Given the description of an element on the screen output the (x, y) to click on. 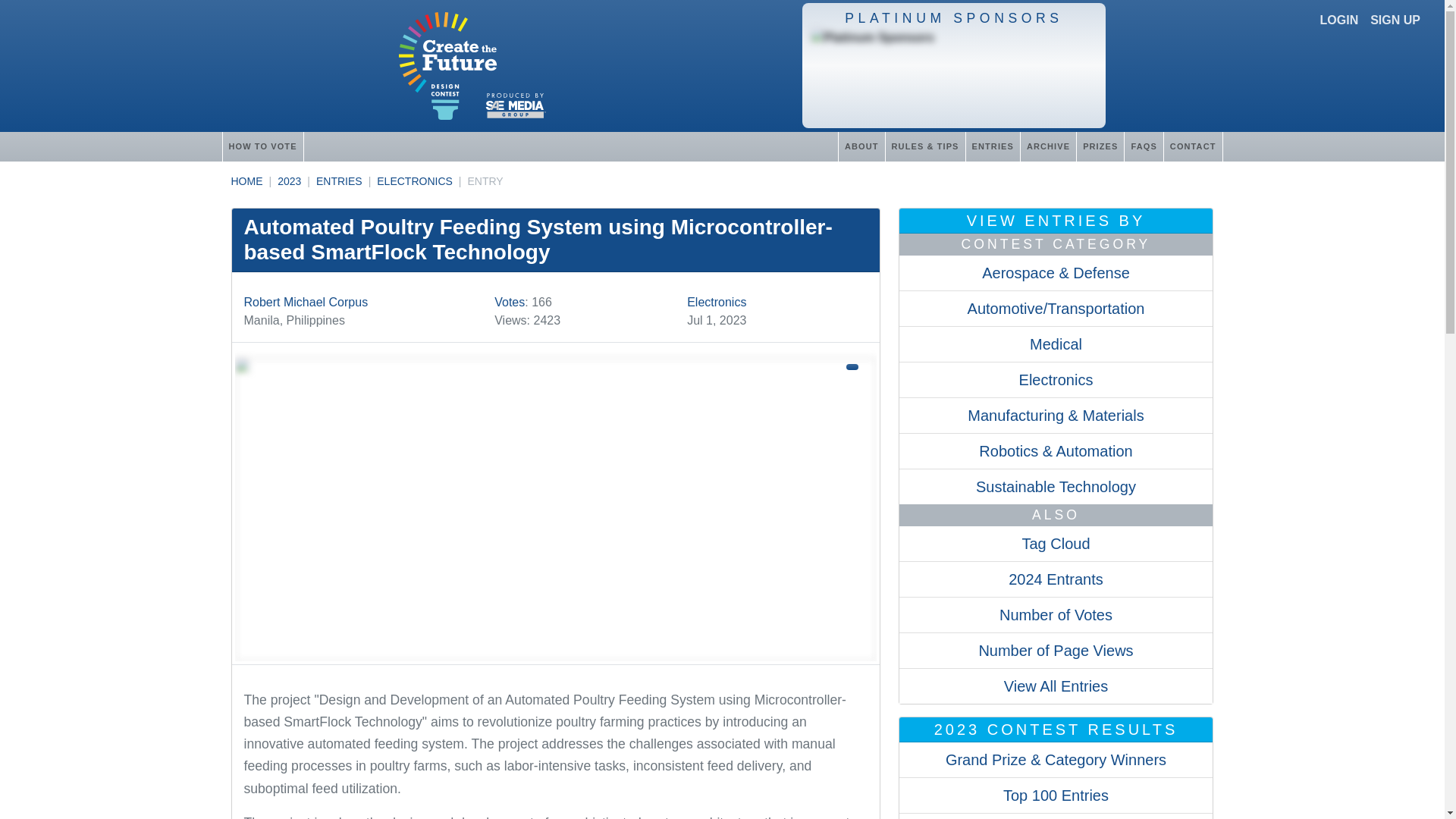
ENTRIES (992, 146)
Robert Michael Corpus (306, 301)
ABOUT (861, 146)
ARCHIVE (1047, 146)
CONTACT (1193, 146)
Electronics (716, 301)
ENTRIES (338, 181)
HOW TO VOTE (261, 146)
PRIZES (1099, 146)
2023 (289, 181)
ELECTRONICS (414, 181)
SIGN UP (1395, 20)
Votes (509, 301)
LOGIN (1339, 20)
FAQS (1142, 146)
